Given the description of an element on the screen output the (x, y) to click on. 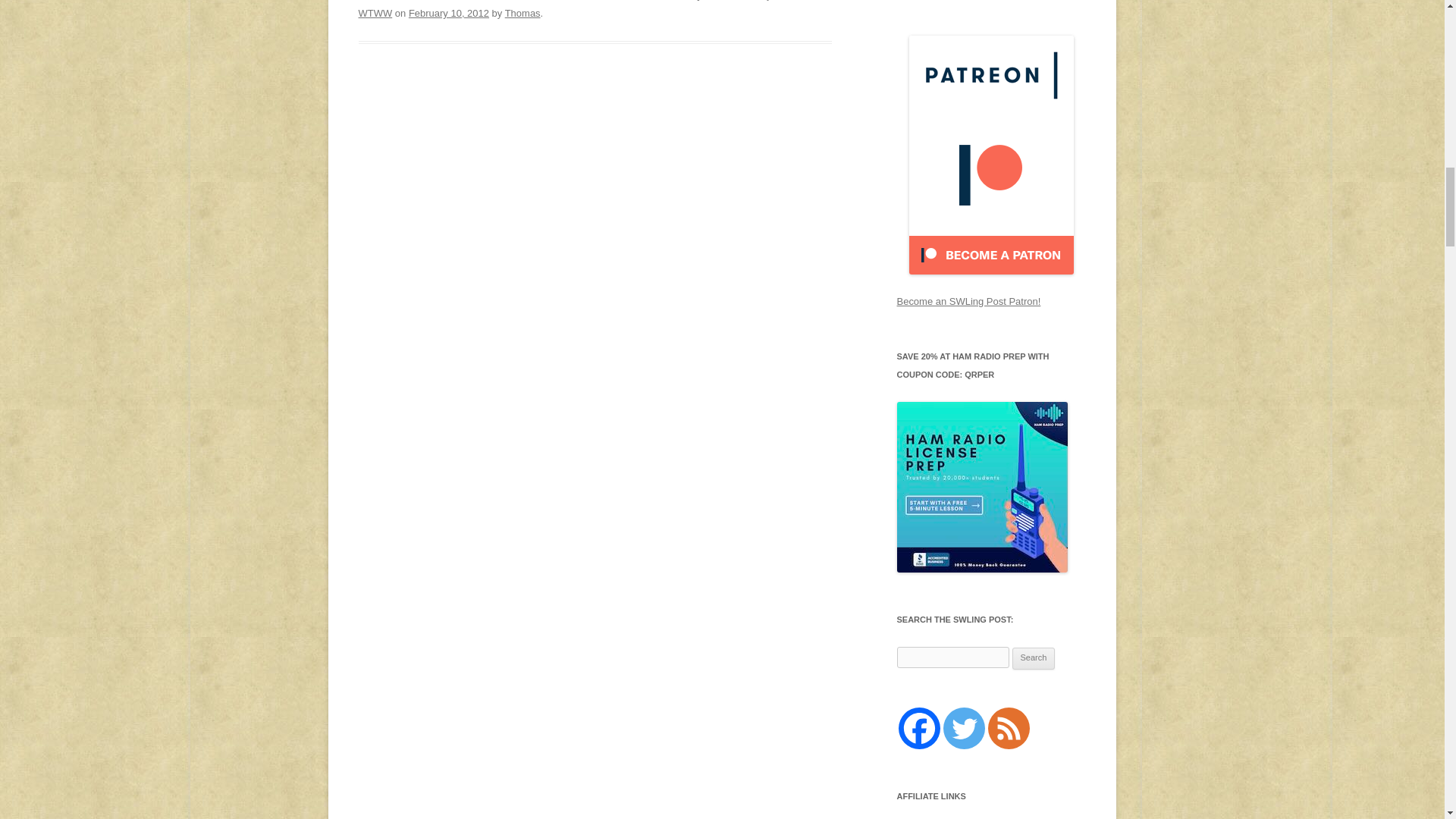
View all posts by Thomas (522, 12)
1:01 pm (449, 12)
Facebook (918, 728)
Search (1033, 658)
WTWW (374, 12)
Ted Randall (606, 0)
